Given the description of an element on the screen output the (x, y) to click on. 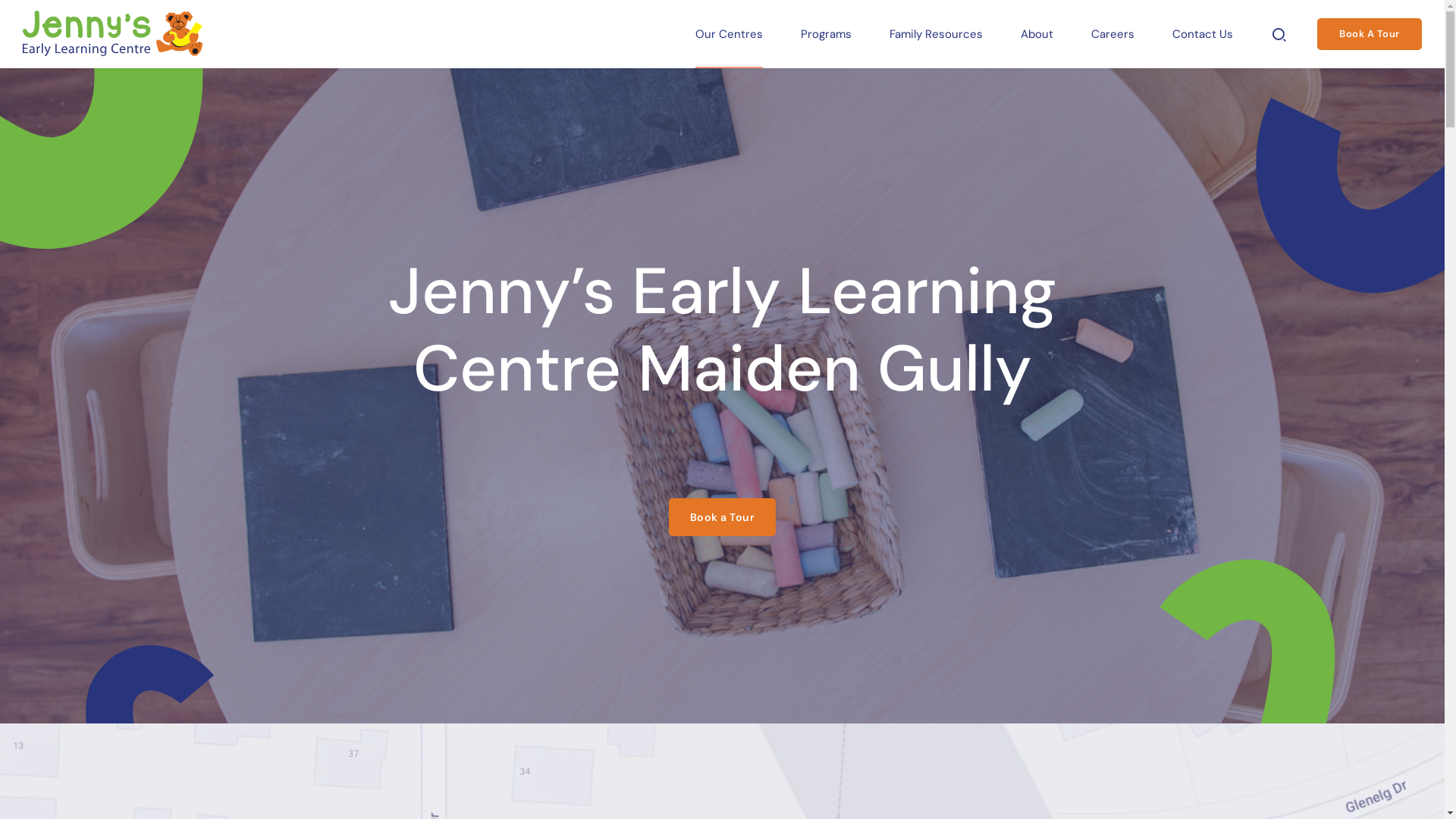
Family Resources Element type: text (935, 34)
Our Centres Element type: text (728, 34)
Book a Tour Element type: text (722, 517)
Contact Us Element type: text (1202, 34)
Careers Element type: text (1112, 34)
About Element type: text (1036, 34)
Book A Tour Element type: text (1369, 34)
Programs Element type: text (825, 34)
